Given the description of an element on the screen output the (x, y) to click on. 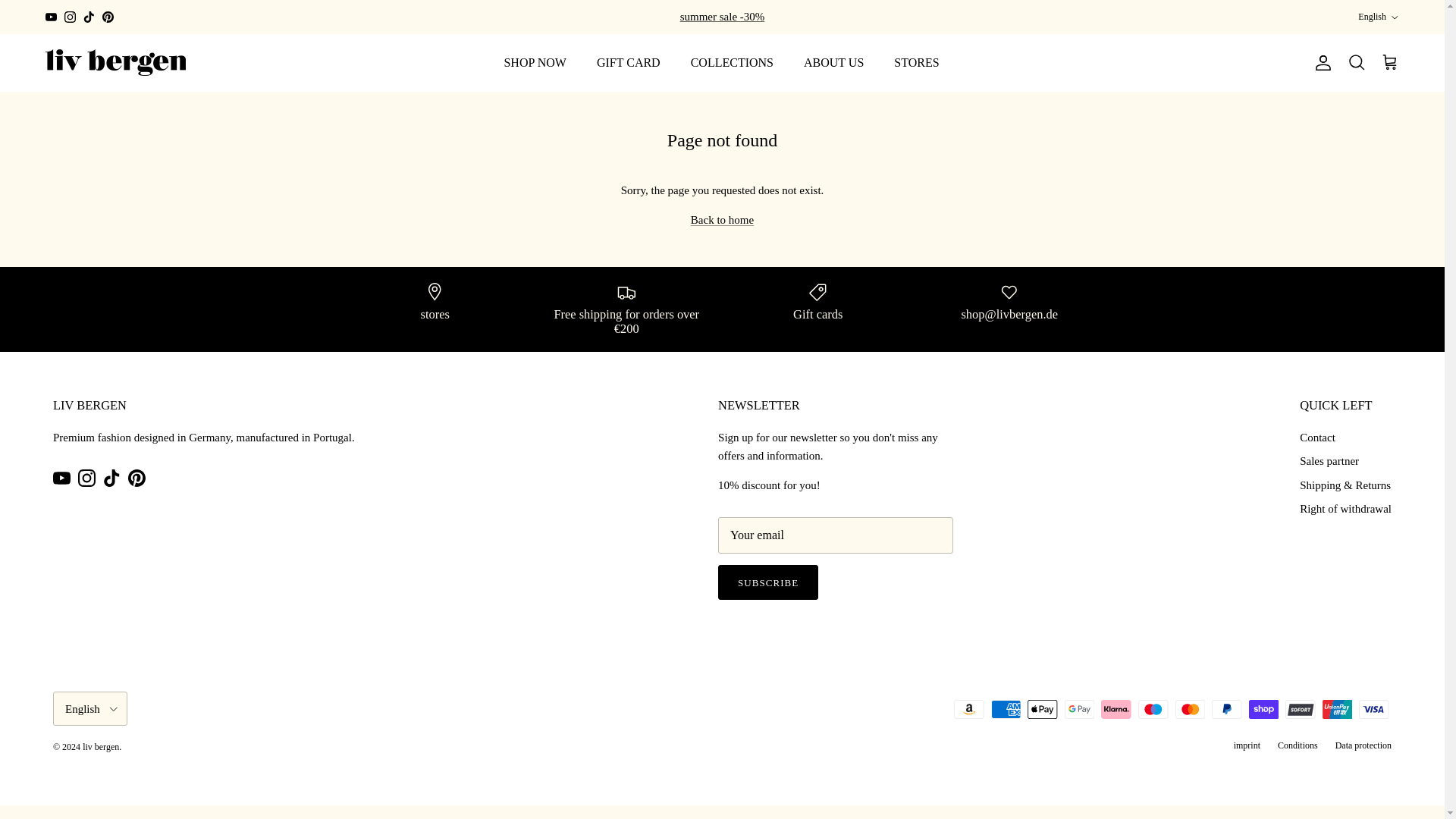
Account (1319, 62)
STORES (916, 61)
Amazon (968, 709)
TikTok (88, 16)
Google Pay (1079, 709)
liv bergen on TikTok (111, 477)
SPRING SUMMER 24 (722, 16)
GIFT CARD (628, 61)
liv bergen on Instagram (69, 16)
Instagram (69, 16)
SHOP NOW (534, 61)
ABOUT US (833, 61)
COLLECTIONS (732, 61)
liv bergen on YouTube (60, 477)
English (1378, 16)
